Given the description of an element on the screen output the (x, y) to click on. 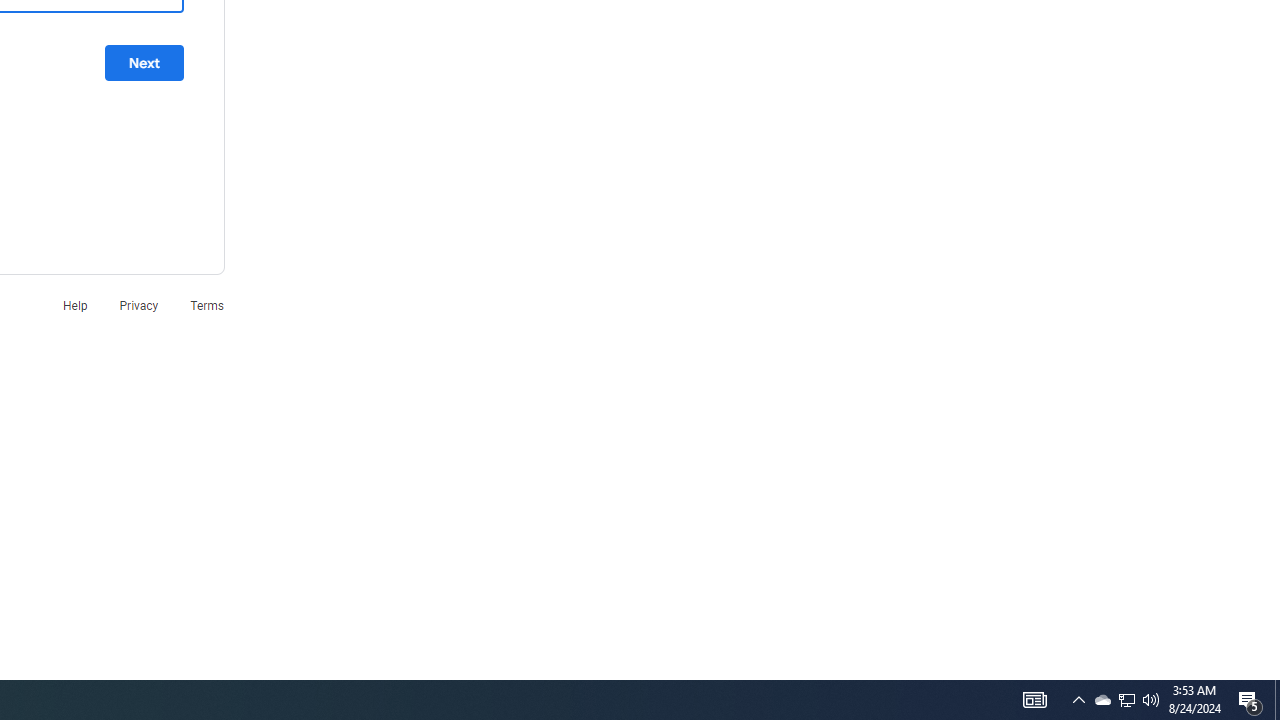
Privacy (138, 304)
Terms (207, 304)
Next (143, 63)
Help (74, 304)
